Given the description of an element on the screen output the (x, y) to click on. 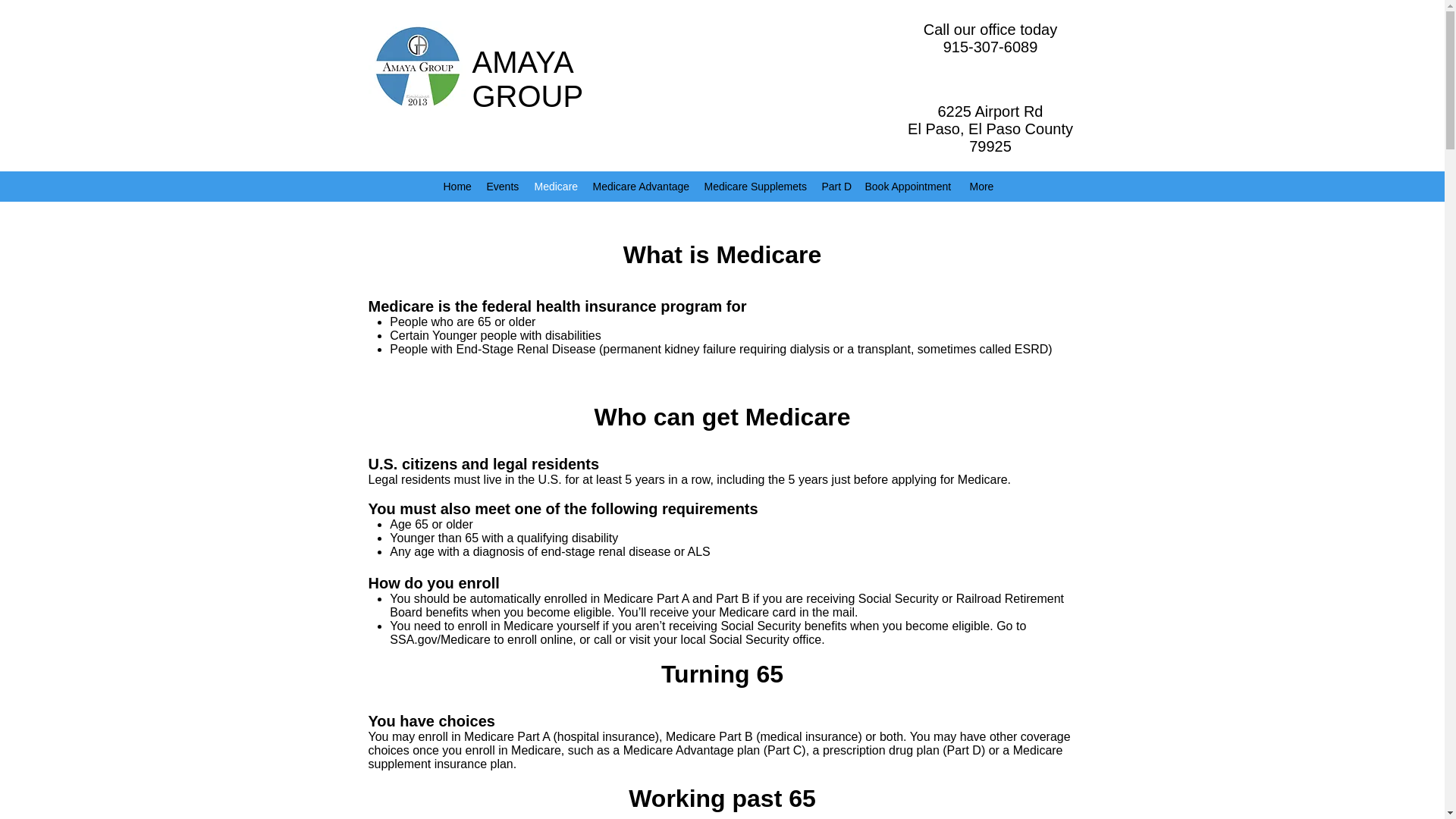
Events (503, 186)
Book Appointment (908, 186)
Medicare Advantage (641, 186)
Medicare Supplemets (754, 186)
Home (457, 186)
Part D (835, 186)
Medicare (555, 186)
